Given the description of an element on the screen output the (x, y) to click on. 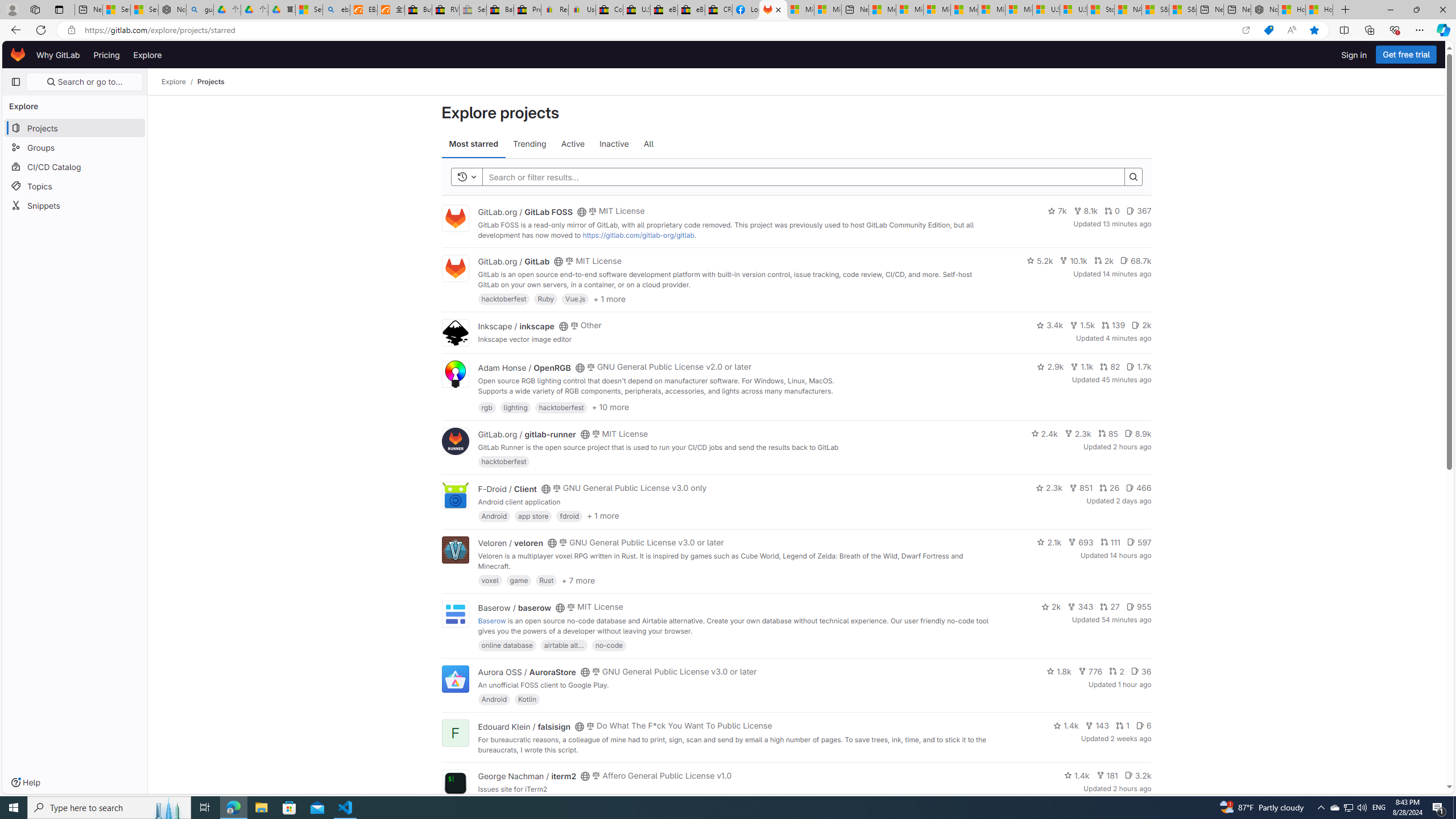
143 (1096, 725)
Sell worldwide with eBay - Sleeping (473, 9)
Pricing (106, 54)
Topics (74, 185)
Buy Auto Parts & Accessories | eBay (418, 9)
Open in app (1245, 29)
CI/CD Catalog (74, 166)
Shopping in Microsoft Edge (1268, 29)
Baserow / baserow (514, 606)
F (454, 732)
